Given the description of an element on the screen output the (x, y) to click on. 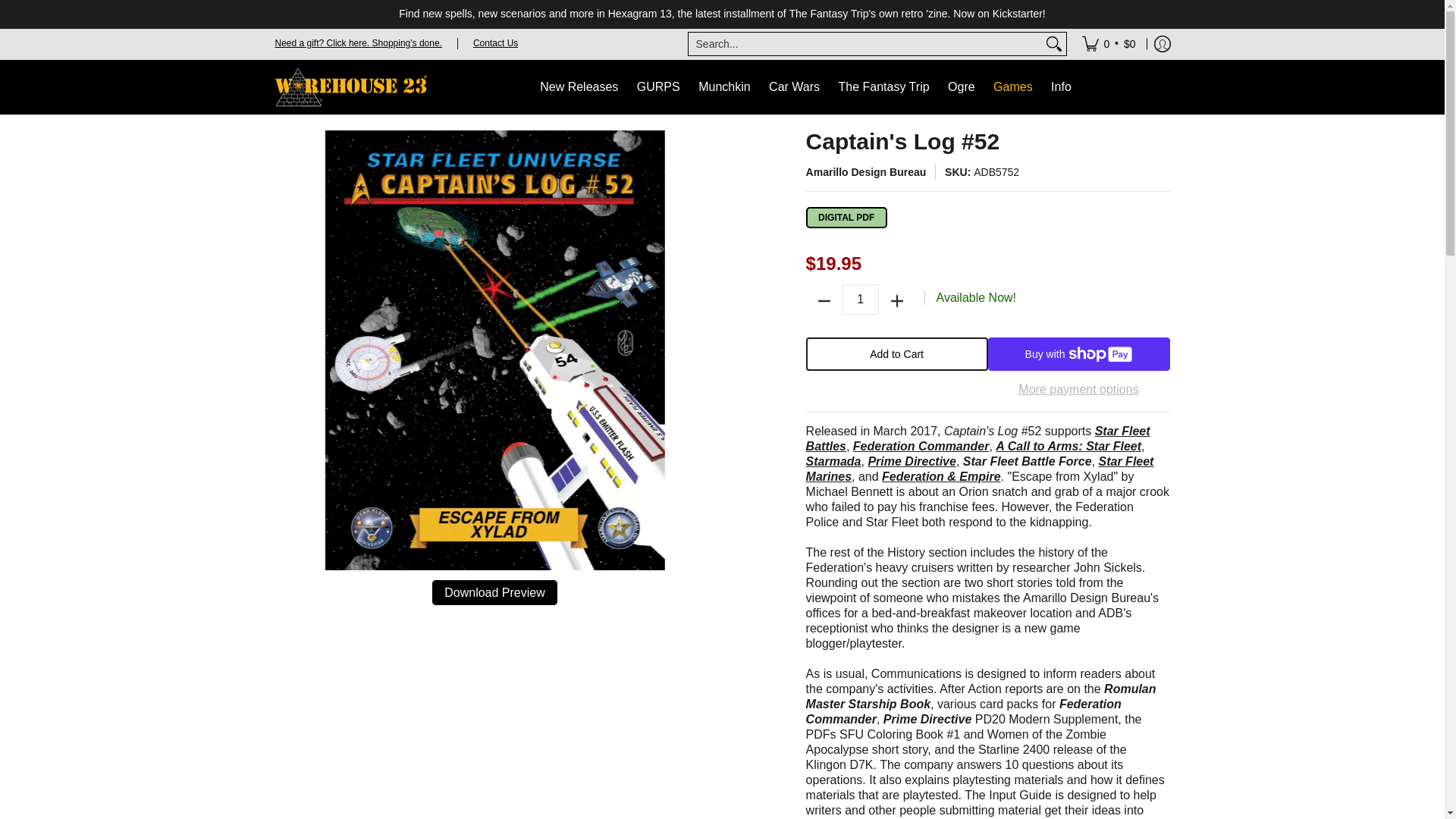
New Releases (579, 86)
Munchkin (723, 86)
The Fantasy Trip (884, 86)
Car Wars (794, 86)
New Releases (579, 86)
Games (1013, 87)
Need a gift? Click here. Shopping's done. (358, 42)
Cart (1108, 43)
GURPS (657, 86)
Munchkin (723, 86)
1 (861, 299)
Warehouse 23 (350, 86)
Games (1013, 87)
The Fantasy Trip (884, 86)
